Given the description of an element on the screen output the (x, y) to click on. 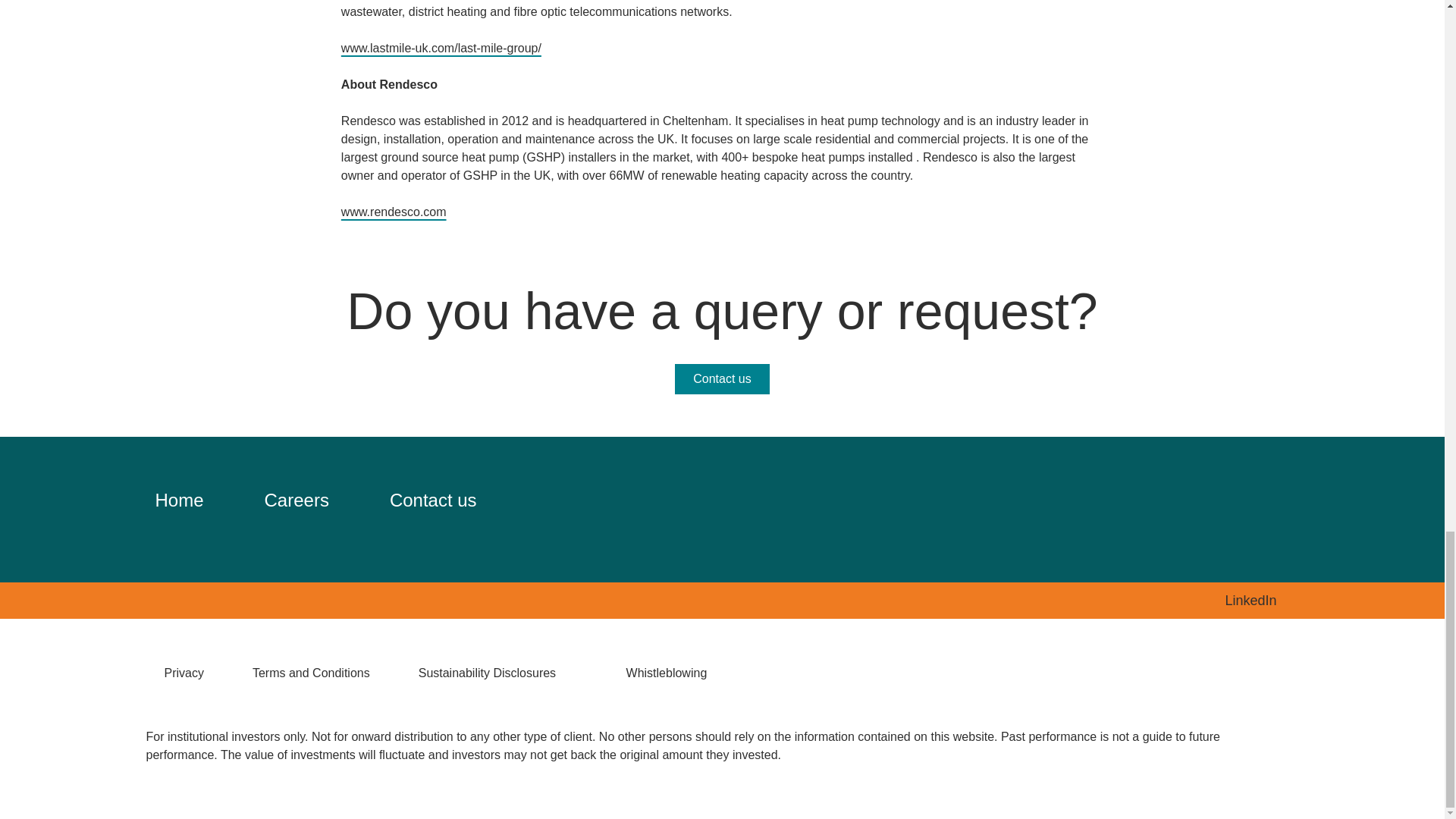
Careers (296, 499)
Privacy (183, 672)
Terms and Conditions (310, 672)
Contact us (433, 499)
Home (178, 499)
Contact us (721, 378)
Sustainability Disclosures (498, 672)
LinkedIn (1261, 600)
Whistleblowing (677, 672)
www.rendesco.com (402, 211)
